Given the description of an element on the screen output the (x, y) to click on. 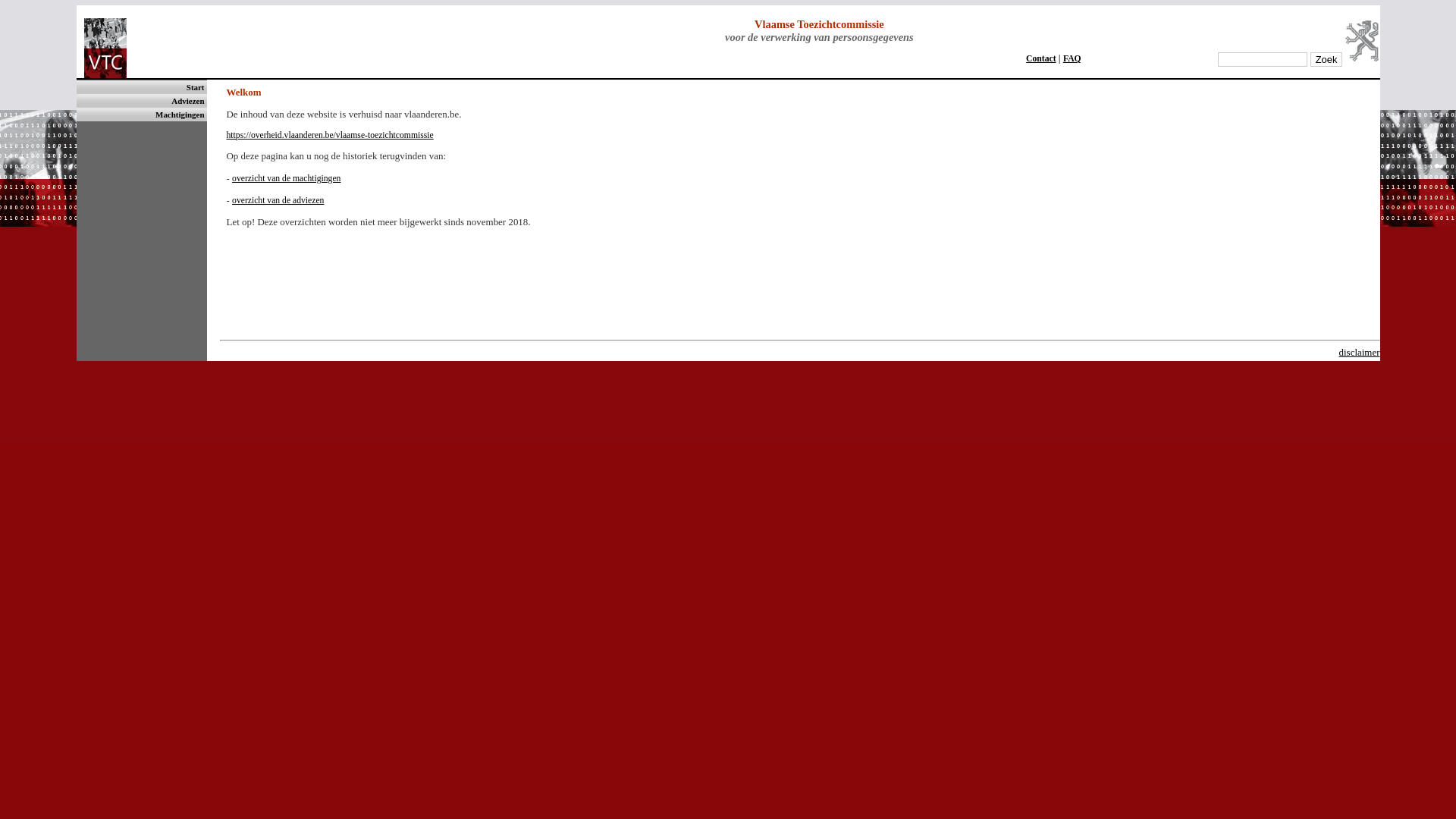
Adviezen Element type: text (187, 100)
Machtigingen Element type: text (179, 114)
Zoek Element type: text (1326, 59)
Start Element type: text (195, 86)
overzicht van de machtigingen Element type: text (286, 178)
https://overheid.vlaanderen.be/vlaamse-toezichtcommissie Element type: text (329, 135)
FAQ Element type: text (1072, 58)
overzicht van de adviezen Element type: text (277, 200)
disclaimer Element type: text (1359, 351)
Contact Element type: text (1041, 58)
